Given the description of an element on the screen output the (x, y) to click on. 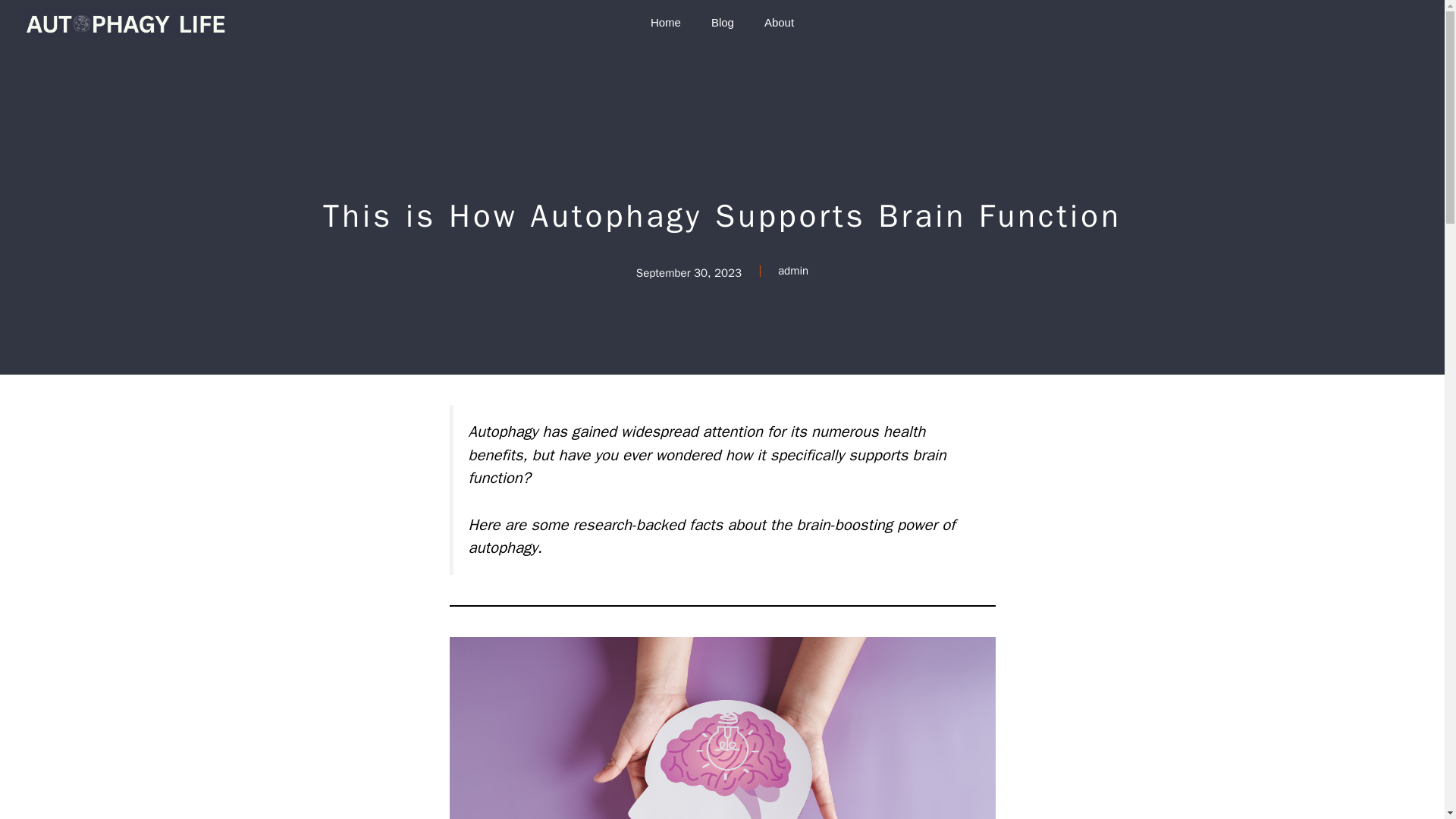
Blog (722, 22)
About (779, 22)
Autophagy Life (125, 22)
Home (664, 22)
autophagy-for-brain- (721, 728)
